Given the description of an element on the screen output the (x, y) to click on. 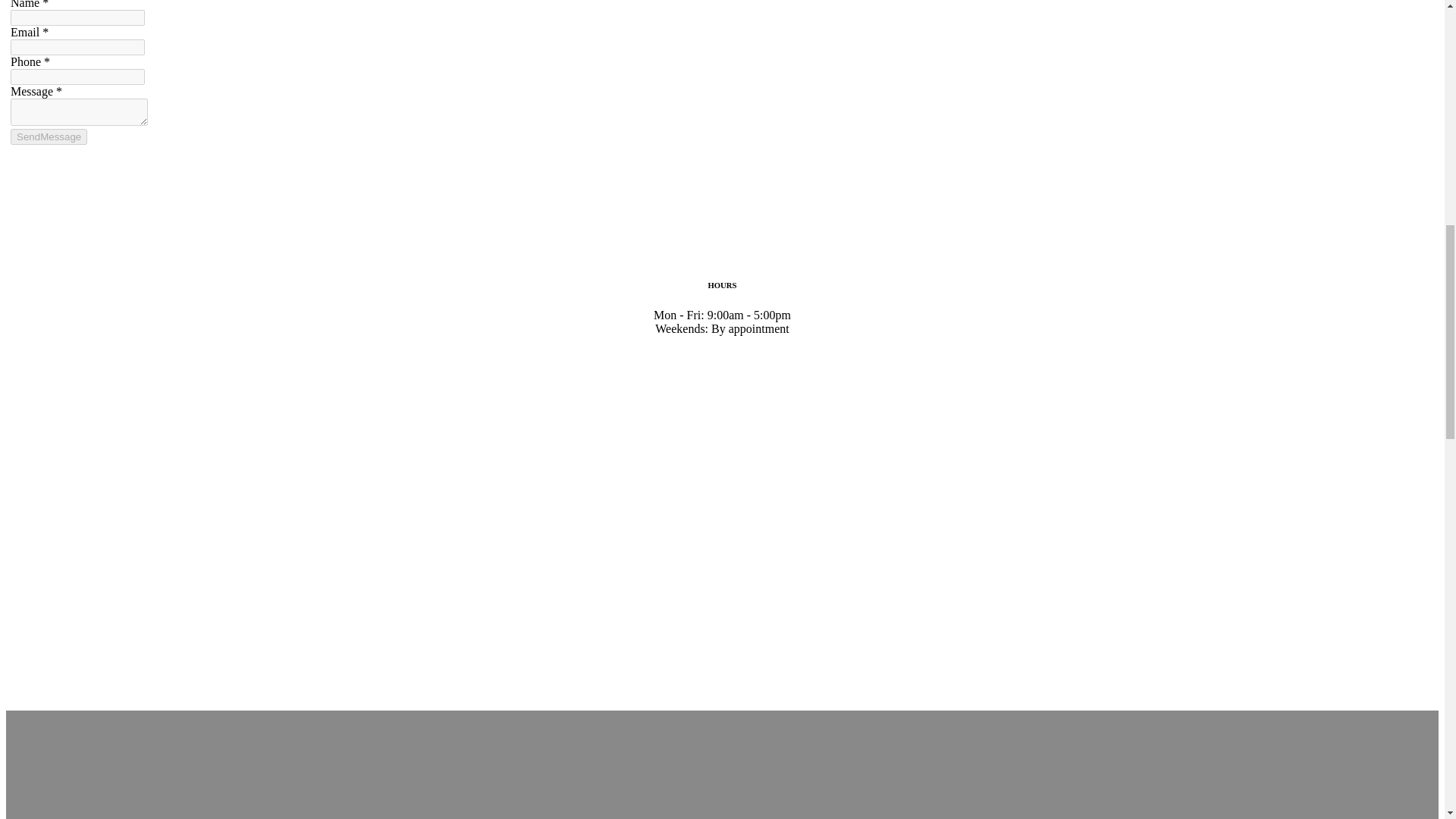
SendMessage (48, 136)
